Given the description of an element on the screen output the (x, y) to click on. 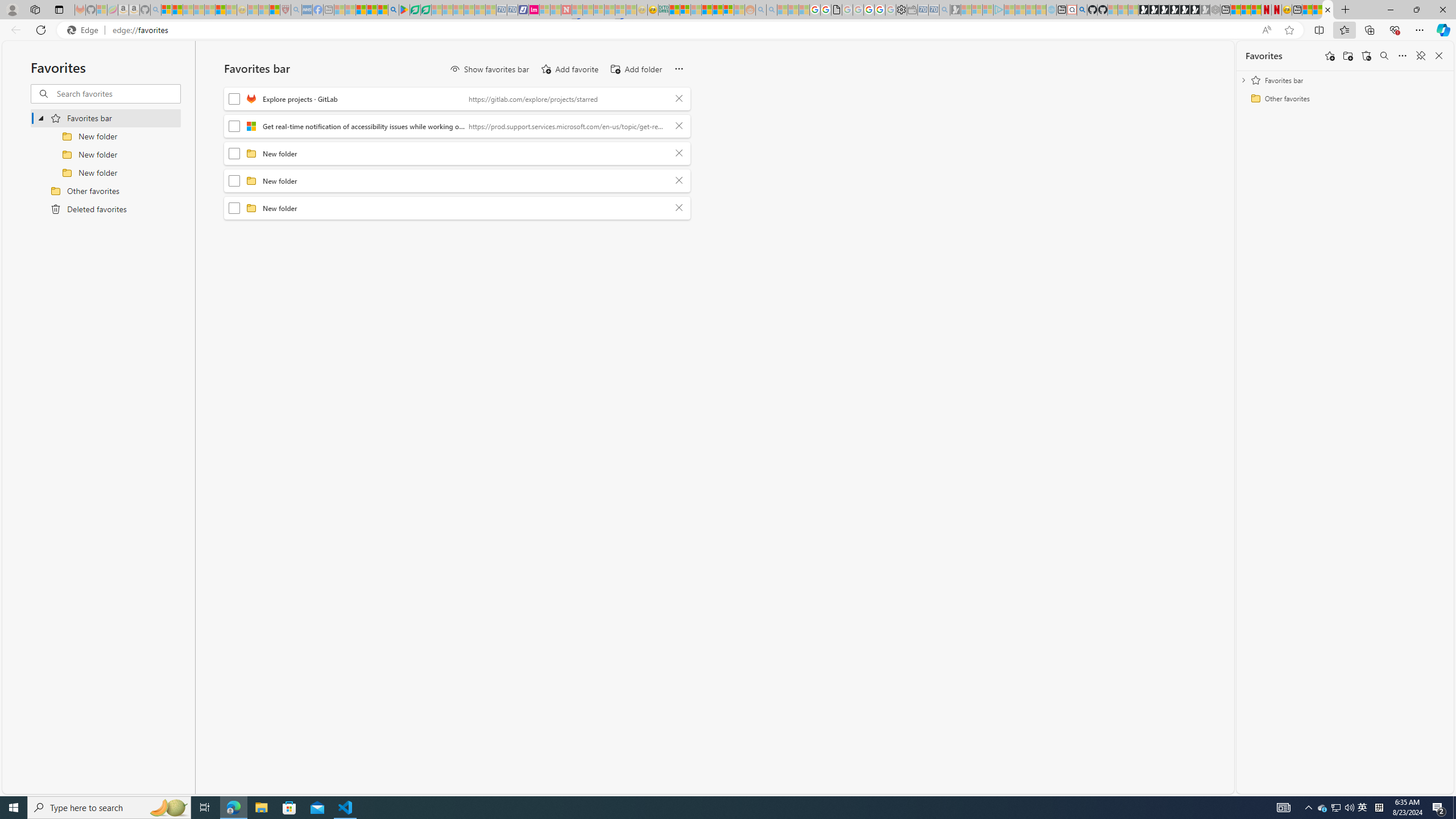
Bluey: Let's Play! - Apps on Google Play (404, 9)
Kinda Frugal - MSN (717, 9)
NCL Adult Asthma Inhaler Choice Guideline - Sleeping (307, 9)
New folder (465, 207)
Search favorites (1383, 55)
Bing Real Estate - Home sales and rental listings - Sleeping (944, 9)
Wallet - Sleeping (912, 9)
Home | Sky Blue Bikes - Sky Blue Bikes - Sleeping (1051, 9)
